Given the description of an element on the screen output the (x, y) to click on. 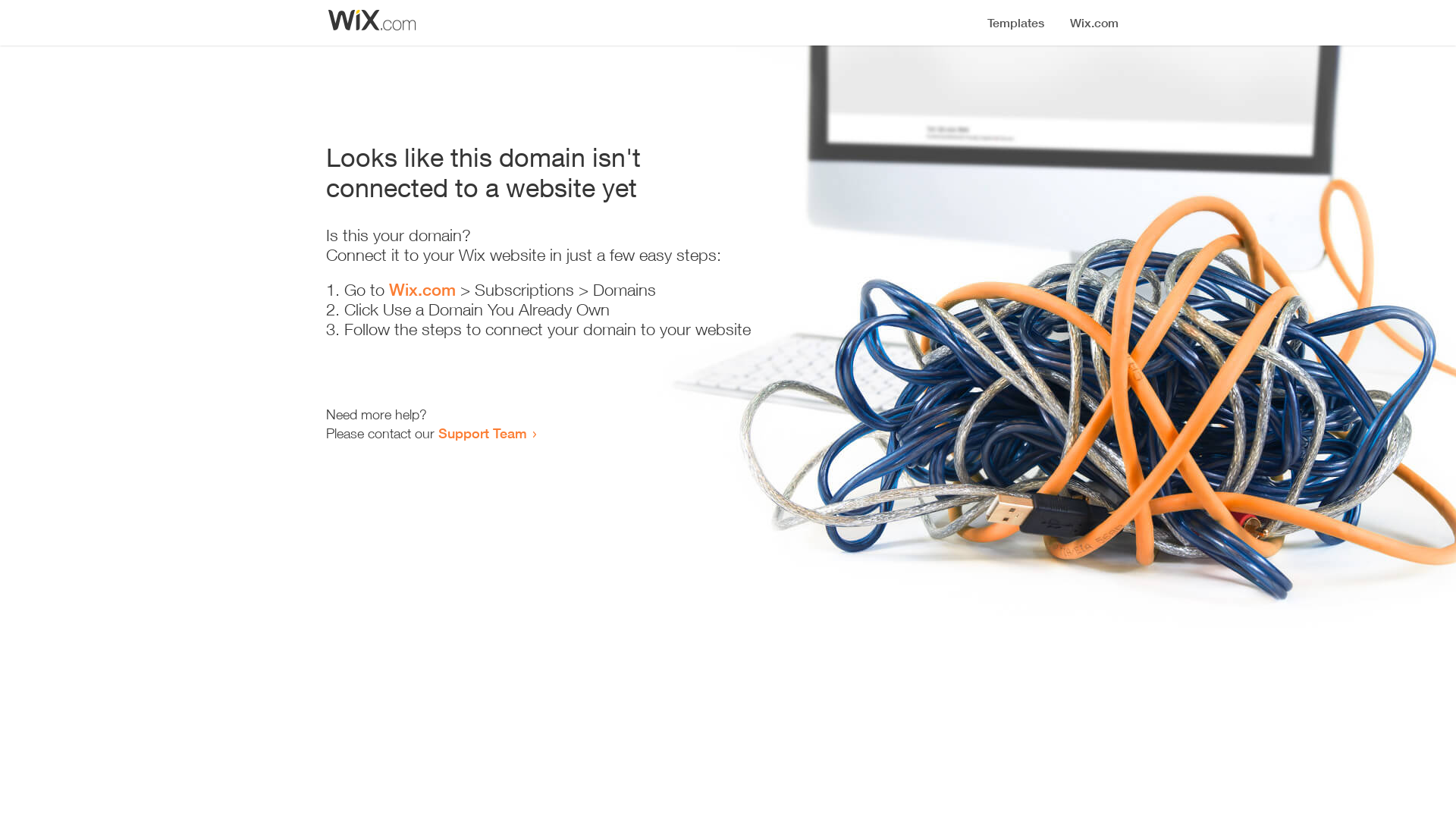
Wix.com Element type: text (422, 289)
Support Team Element type: text (482, 432)
